Given the description of an element on the screen output the (x, y) to click on. 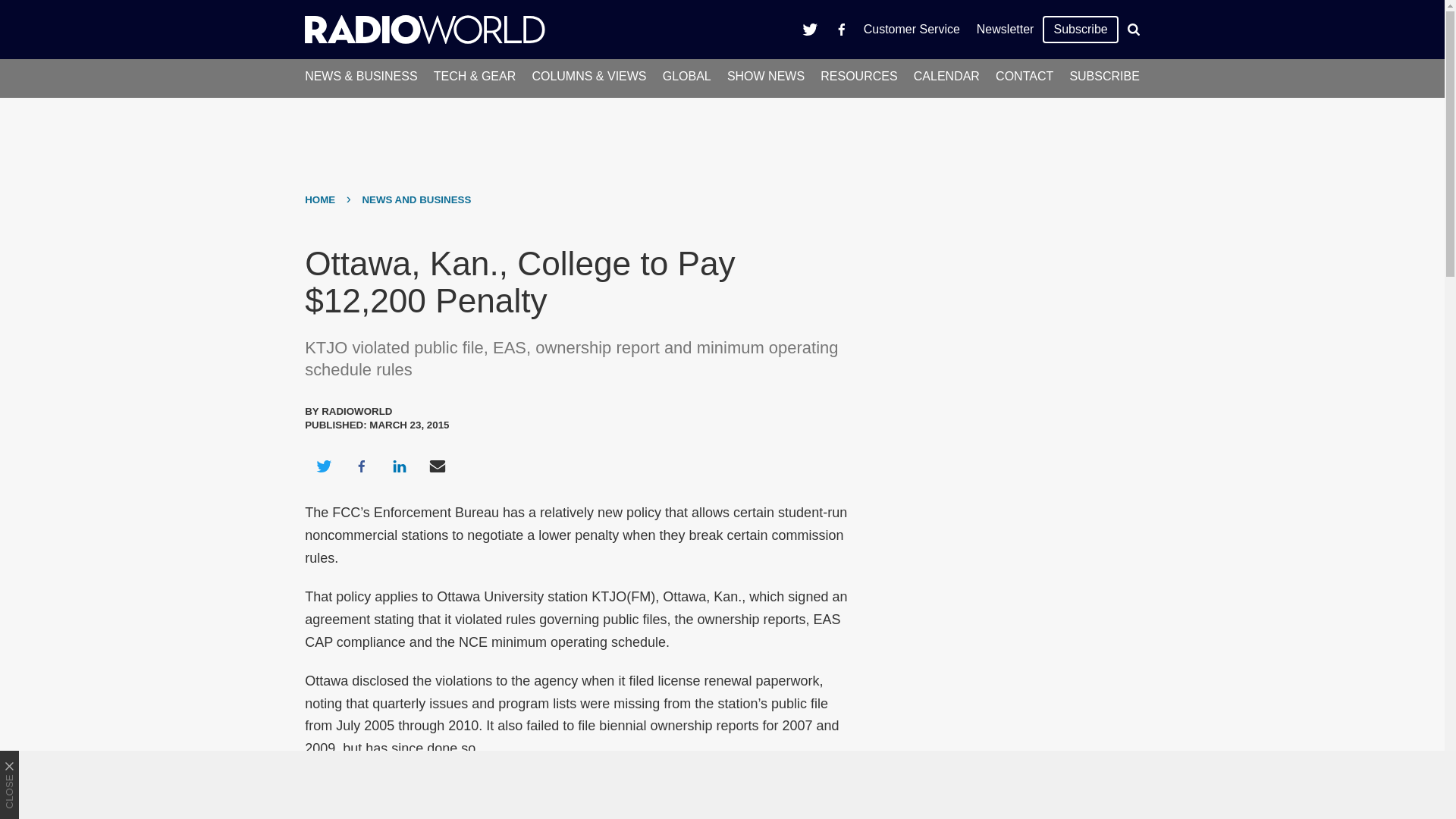
Share on LinkedIn (399, 466)
Share via Email (438, 466)
Share on Twitter (323, 466)
Share on Facebook (361, 466)
Customer Service (912, 29)
Newsletter (1005, 29)
